Given the description of an element on the screen output the (x, y) to click on. 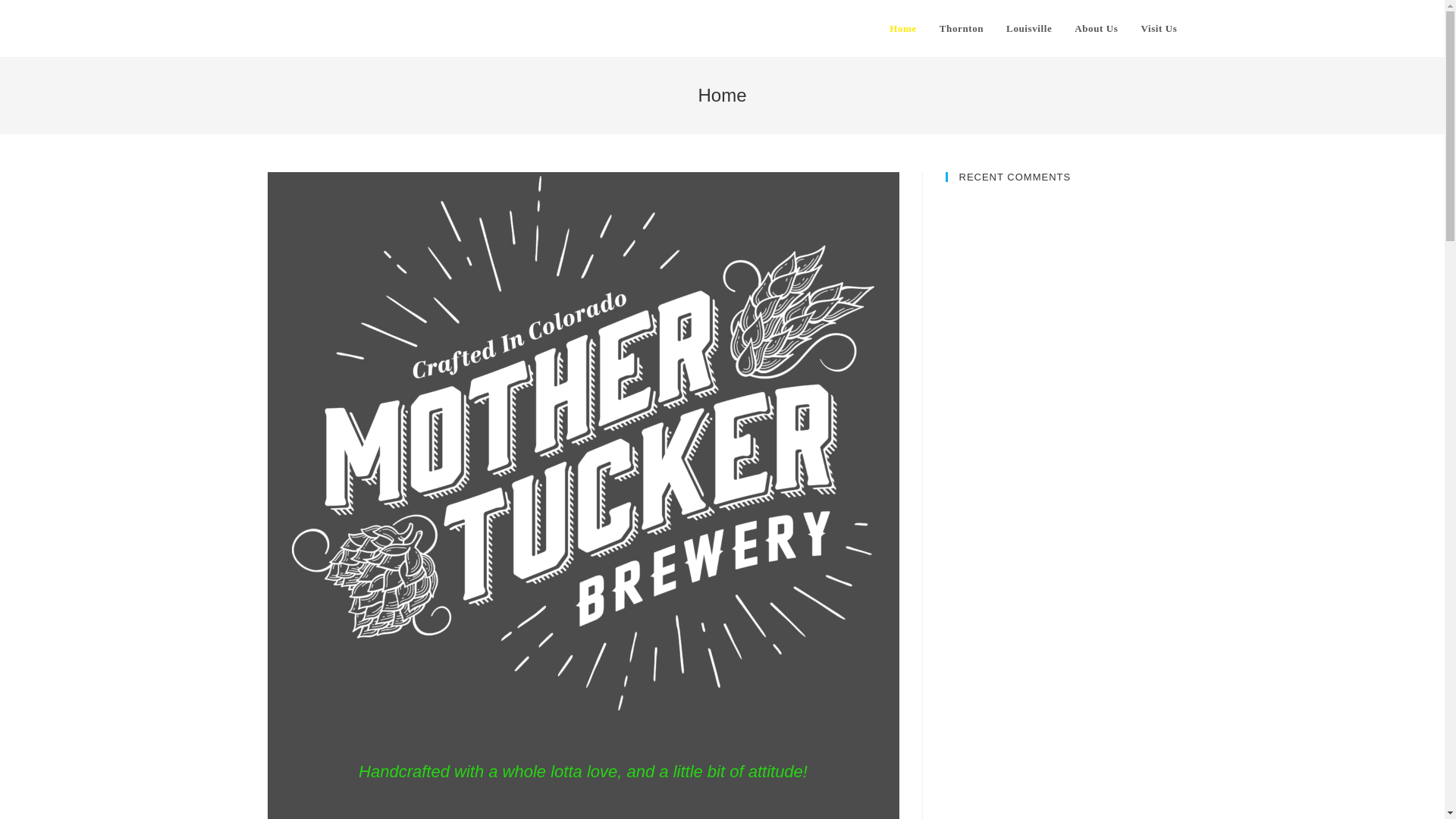
Louisville (1028, 28)
Thornton (961, 28)
About Us (1095, 28)
Visit Us (1158, 28)
Home (902, 28)
